Given the description of an element on the screen output the (x, y) to click on. 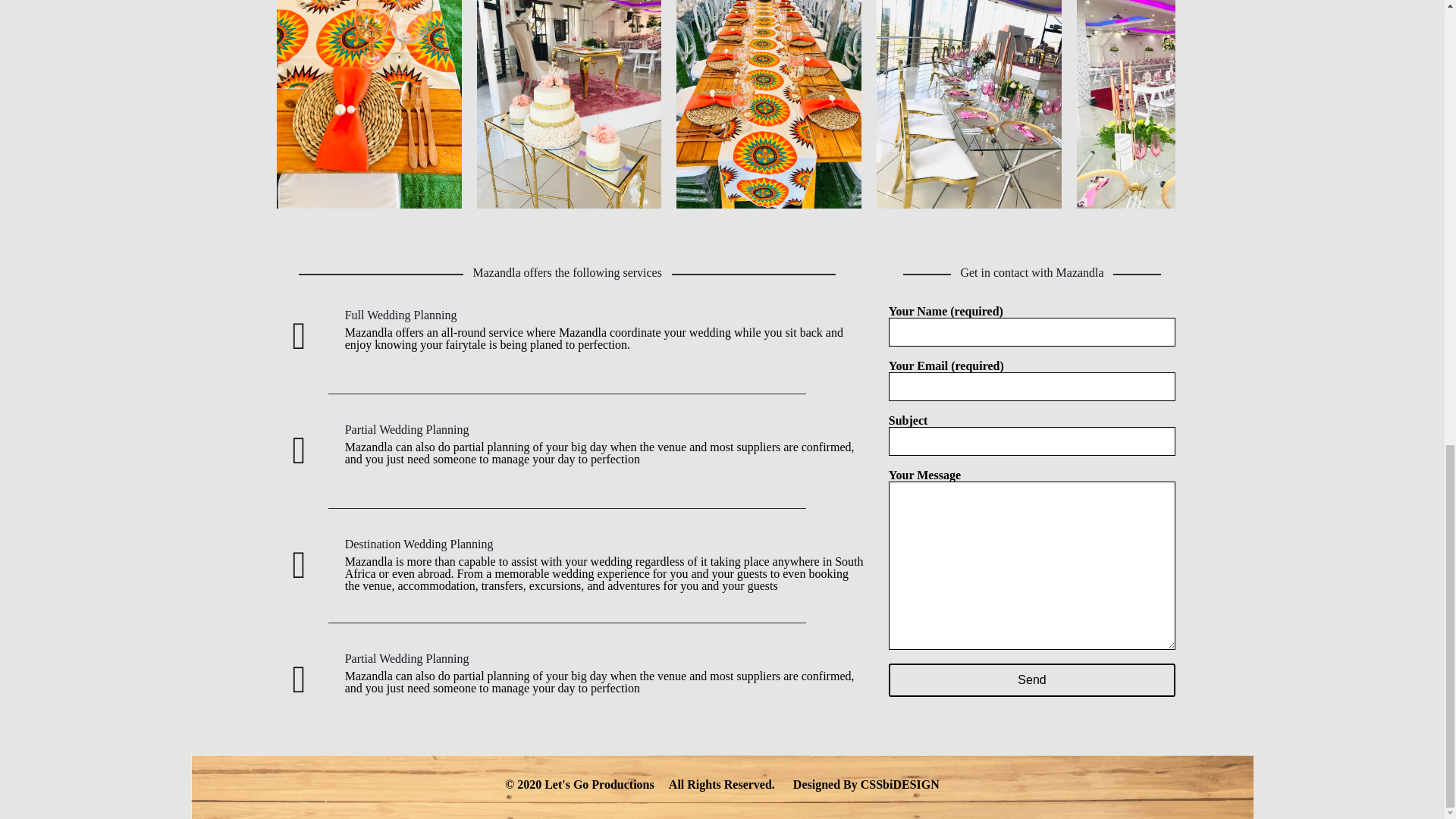
Send (1032, 679)
Send (1032, 679)
Let's Go Productions (598, 784)
CSSbiDESIGN (899, 784)
